Given the description of an element on the screen output the (x, y) to click on. 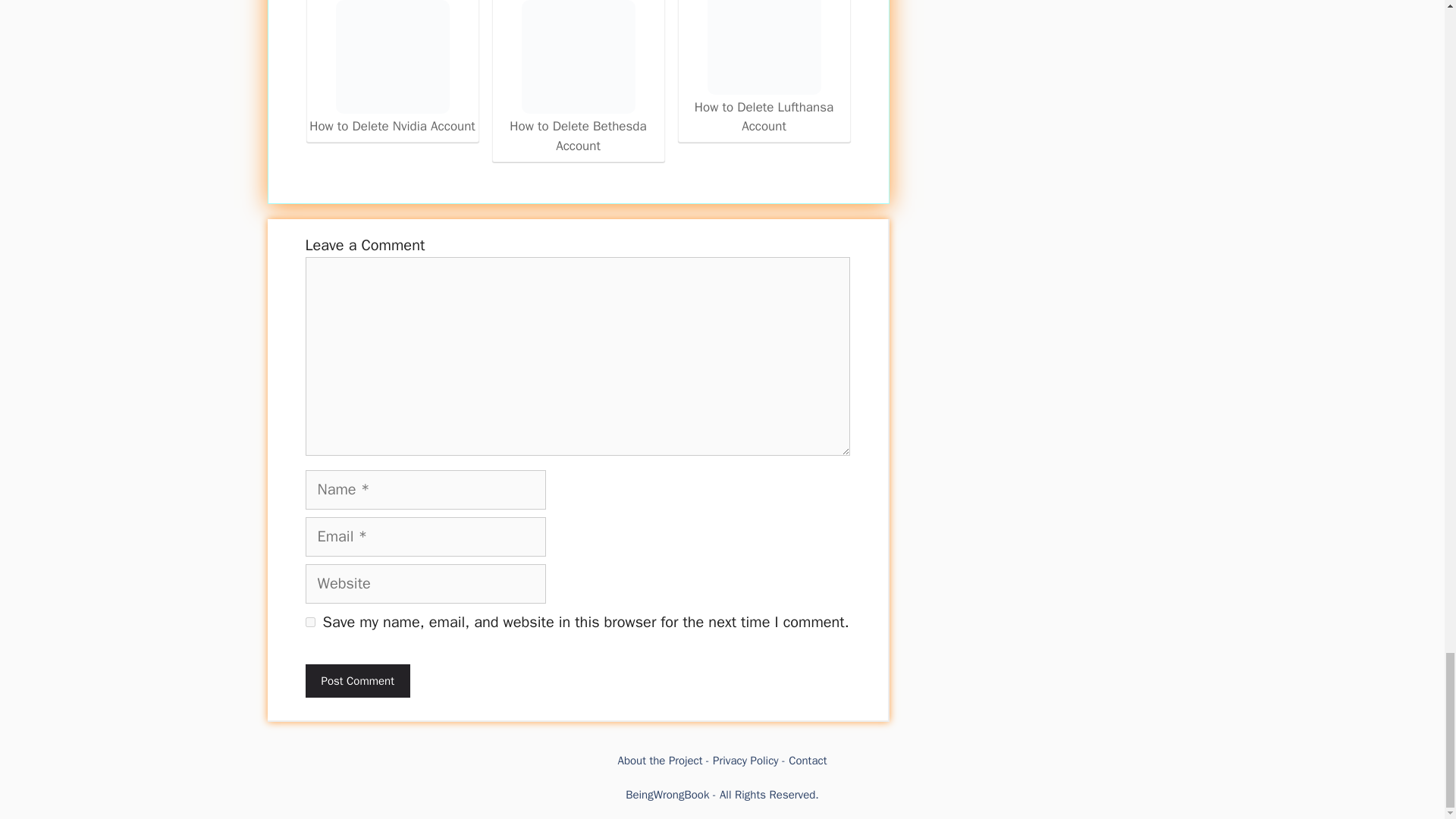
How to Delete Nvidia Account (391, 56)
How to Delete Bethesda Account (578, 77)
How to Delete Nvidia Account (392, 68)
yes (309, 622)
Post Comment (356, 681)
How to Delete Lufthansa Account (764, 68)
Post Comment (356, 681)
